Given the description of an element on the screen output the (x, y) to click on. 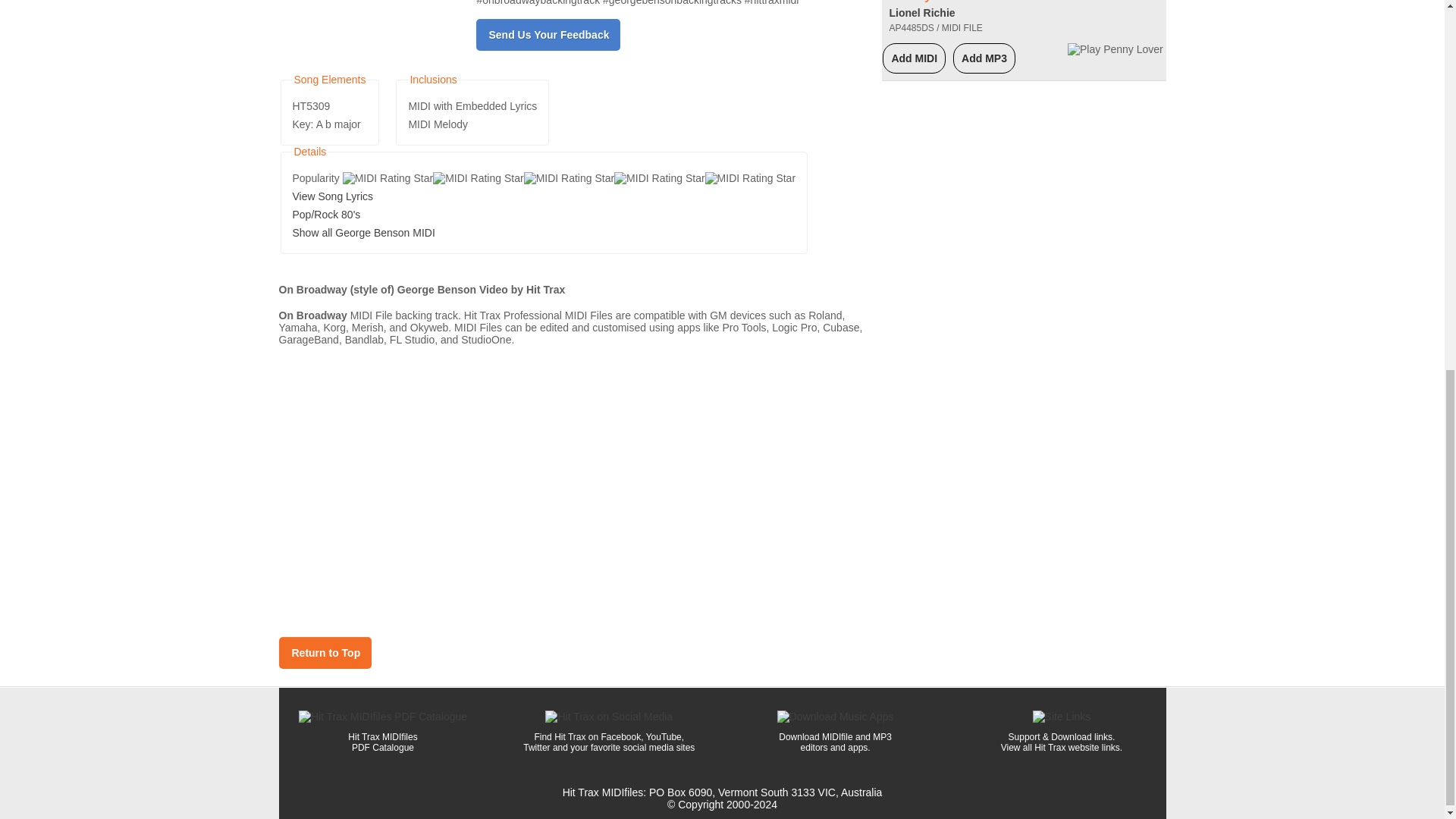
Penny Lover (931, 1)
Show all George Benson MIDI (363, 232)
Send Us Your Feedback (547, 34)
Lionel Richie (921, 12)
Add MIDI (914, 58)
Show all George Benson MIDI (363, 232)
Send Us Your Feedback (547, 34)
View Song Lyrics (333, 196)
Return to Top (325, 653)
Add MP3 (983, 58)
